Given the description of an element on the screen output the (x, y) to click on. 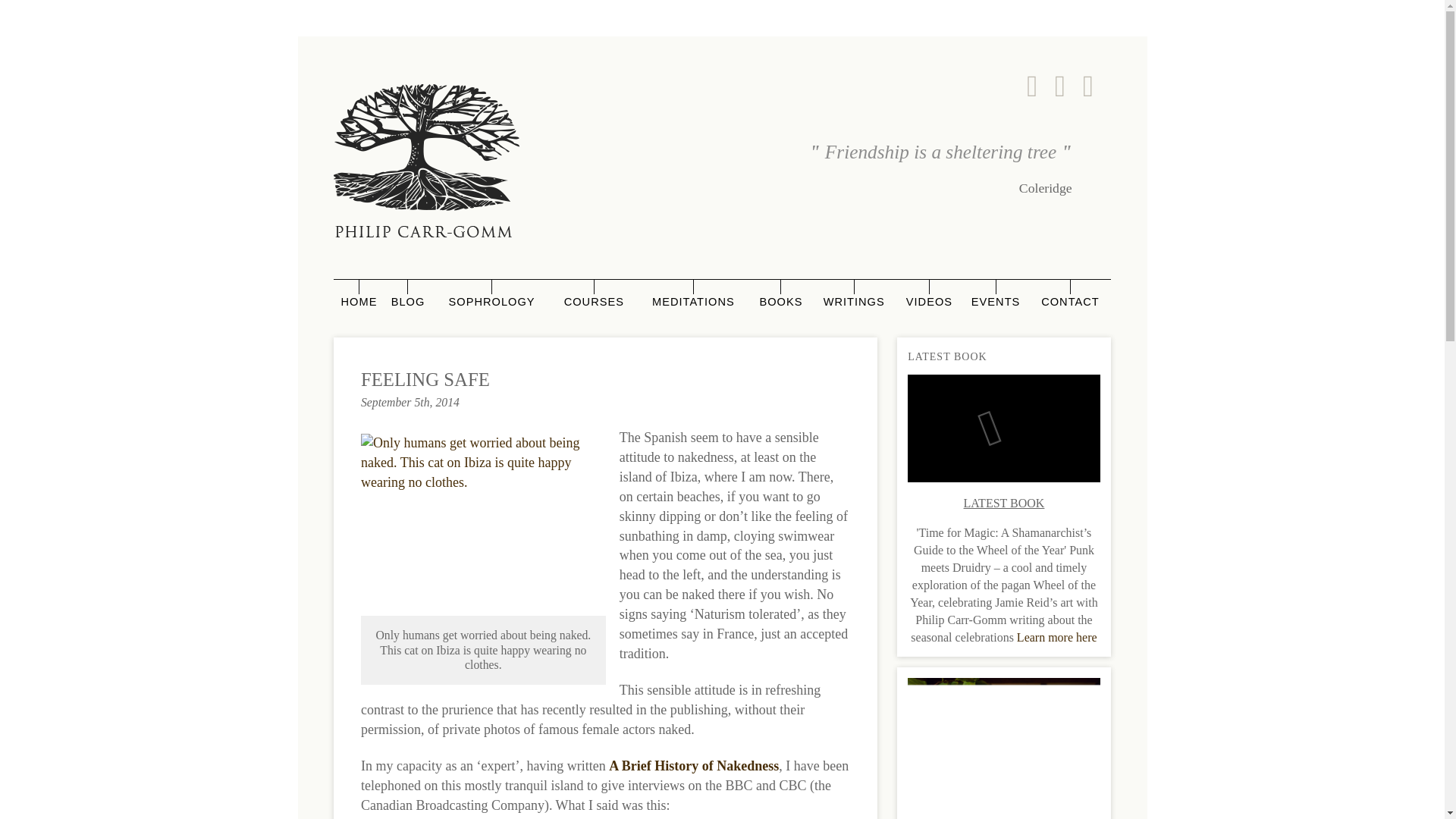
EVENTS (994, 302)
Learn more here (1056, 636)
SOPHROLOGY (490, 302)
COURSES (593, 302)
A Brief History of Nakedness (693, 765)
VIDEOS (928, 302)
WRITINGS (853, 302)
MEDITATIONS (693, 302)
CONTACT (1069, 302)
HOME (358, 302)
BOOKS (780, 302)
BLOG (407, 302)
